Given the description of an element on the screen output the (x, y) to click on. 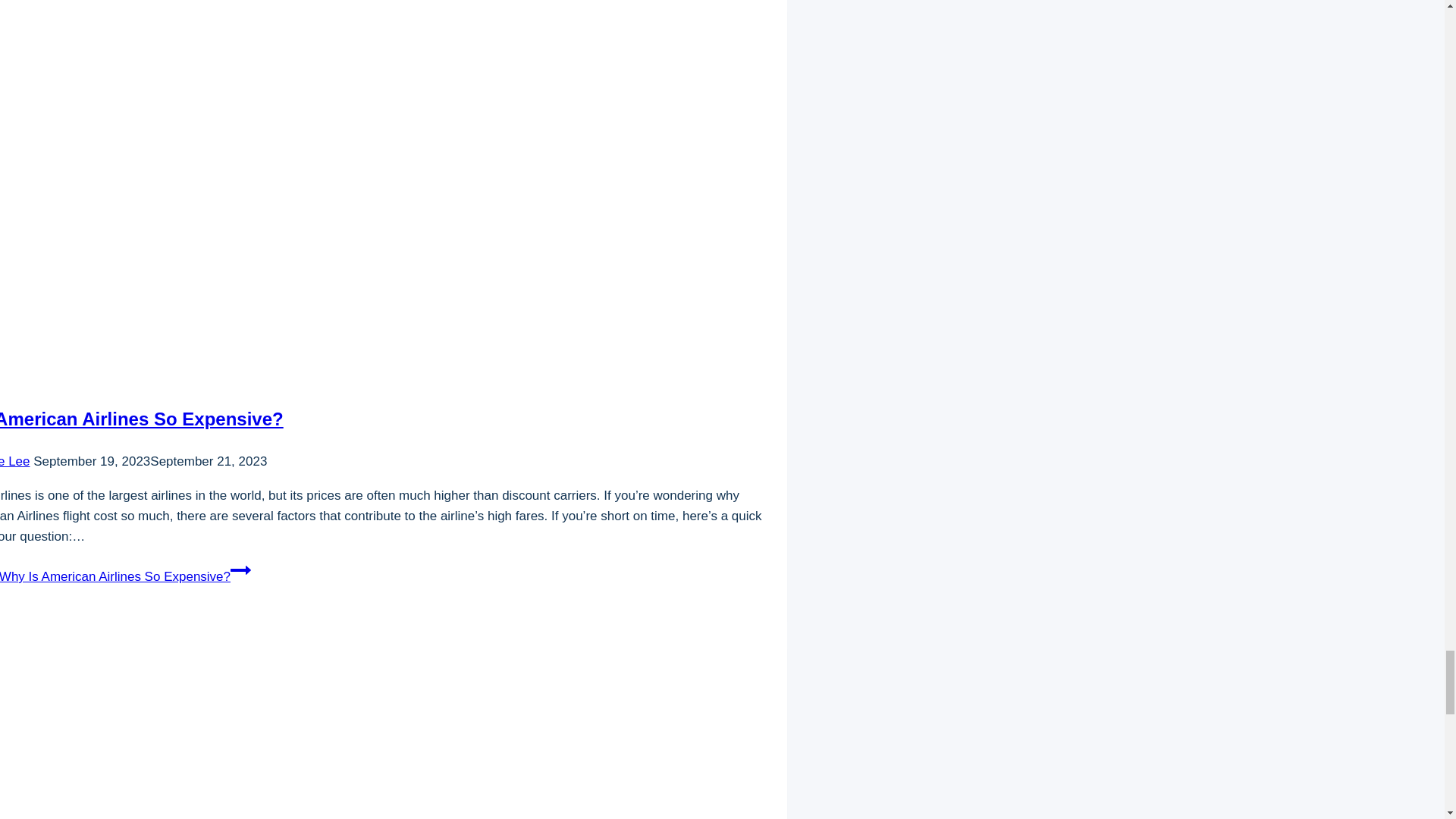
Why Is American Airlines So Expensive? (141, 418)
Stephanie Lee (15, 461)
Continue (240, 569)
Read More Why Is American Airlines So Expensive?Continue (125, 576)
